Given the description of an element on the screen output the (x, y) to click on. 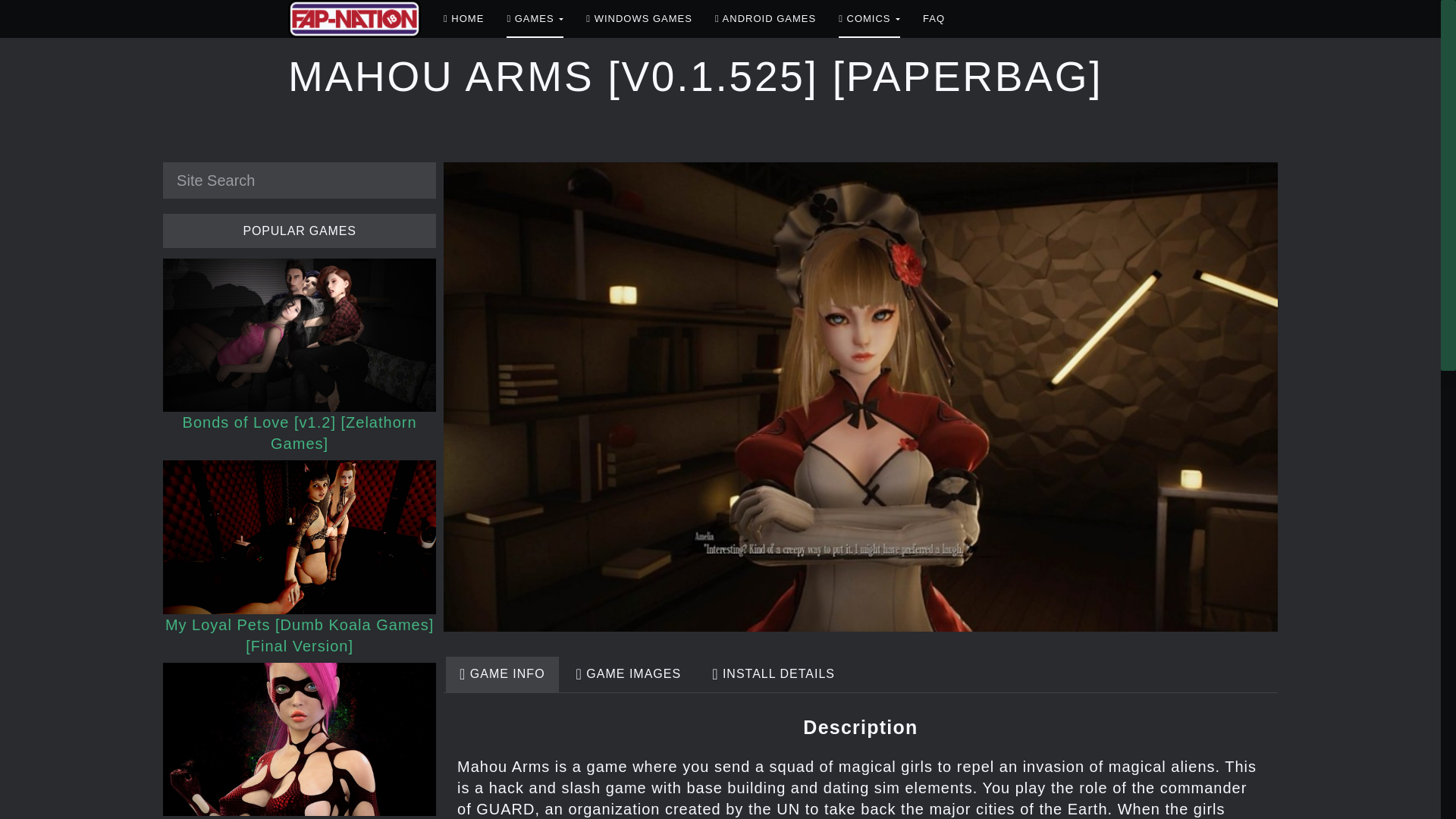
GAMES (534, 18)
GAME INFO (502, 674)
WINDOWS GAMES (639, 18)
ANDROID GAMES (764, 18)
INSTALL DETAILS (773, 674)
COMICS (868, 18)
HOME (463, 18)
GAME IMAGES (628, 674)
